Given the description of an element on the screen output the (x, y) to click on. 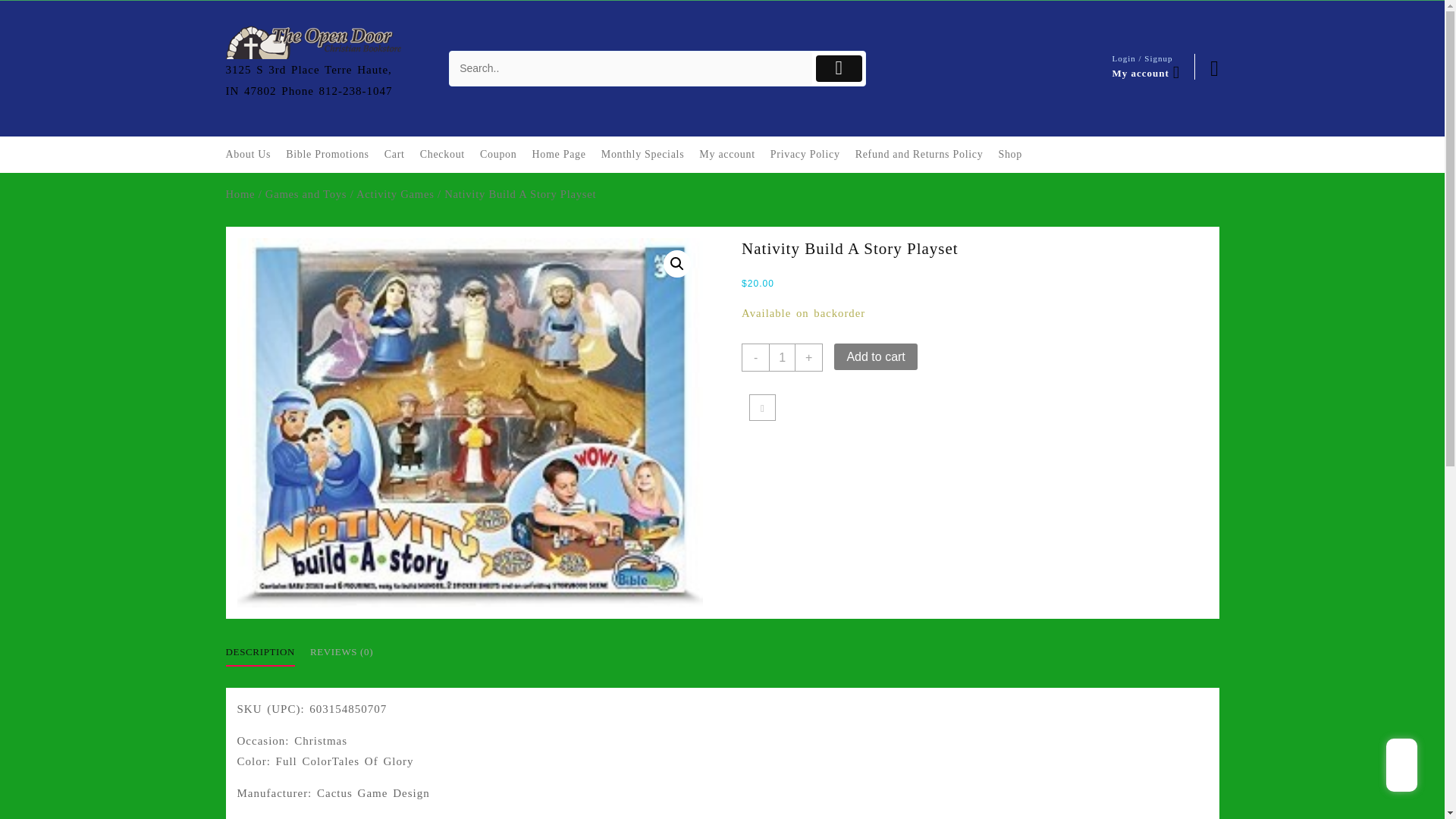
Search (630, 68)
Submit (838, 68)
1 (781, 357)
